Given the description of an element on the screen output the (x, y) to click on. 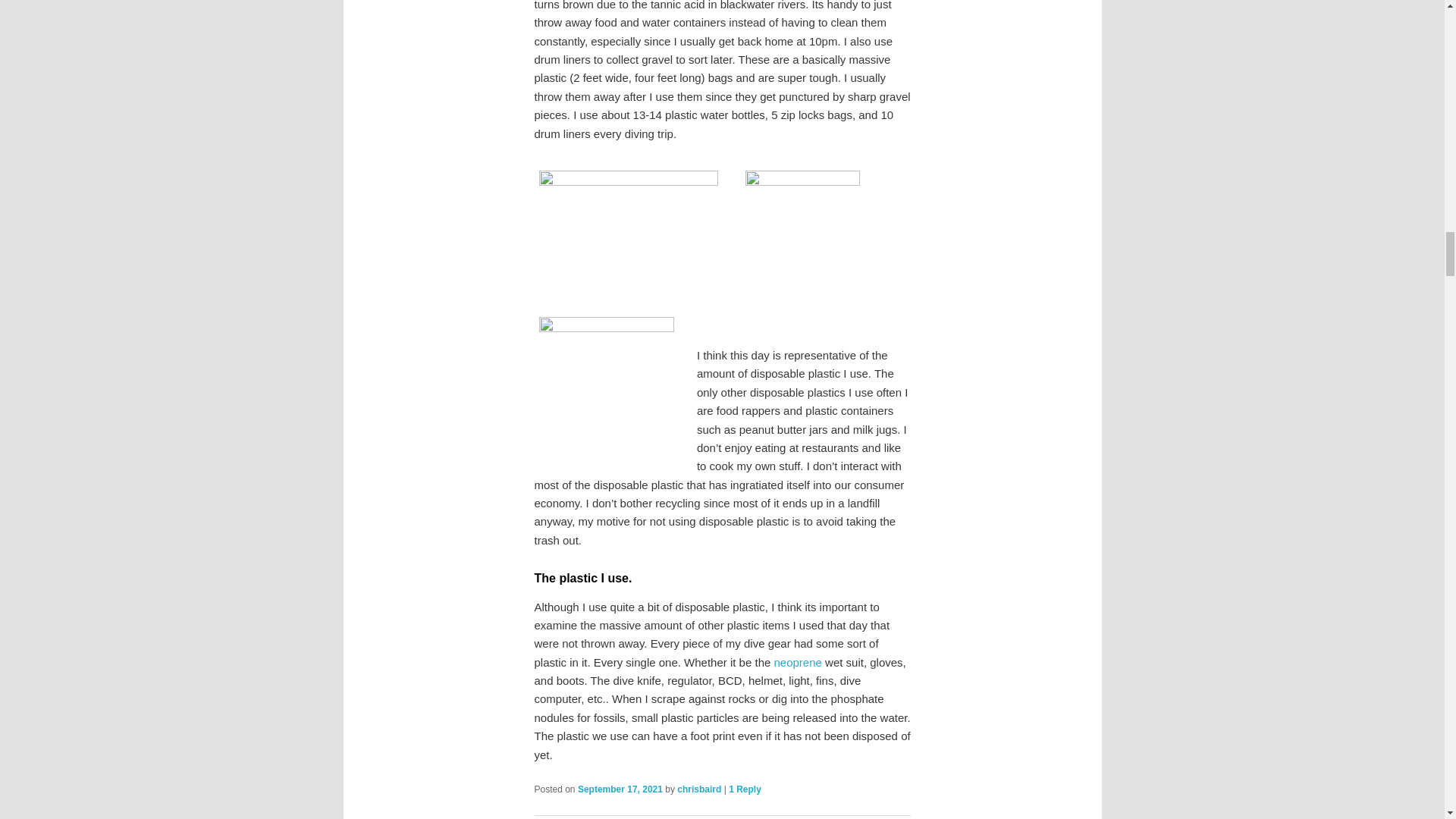
chrisbaird (698, 788)
September 17, 2021 (620, 788)
neoprene (797, 662)
9:38 pm (620, 788)
View all posts by chrisbaird (698, 788)
1 Reply (745, 788)
